Given the description of an element on the screen output the (x, y) to click on. 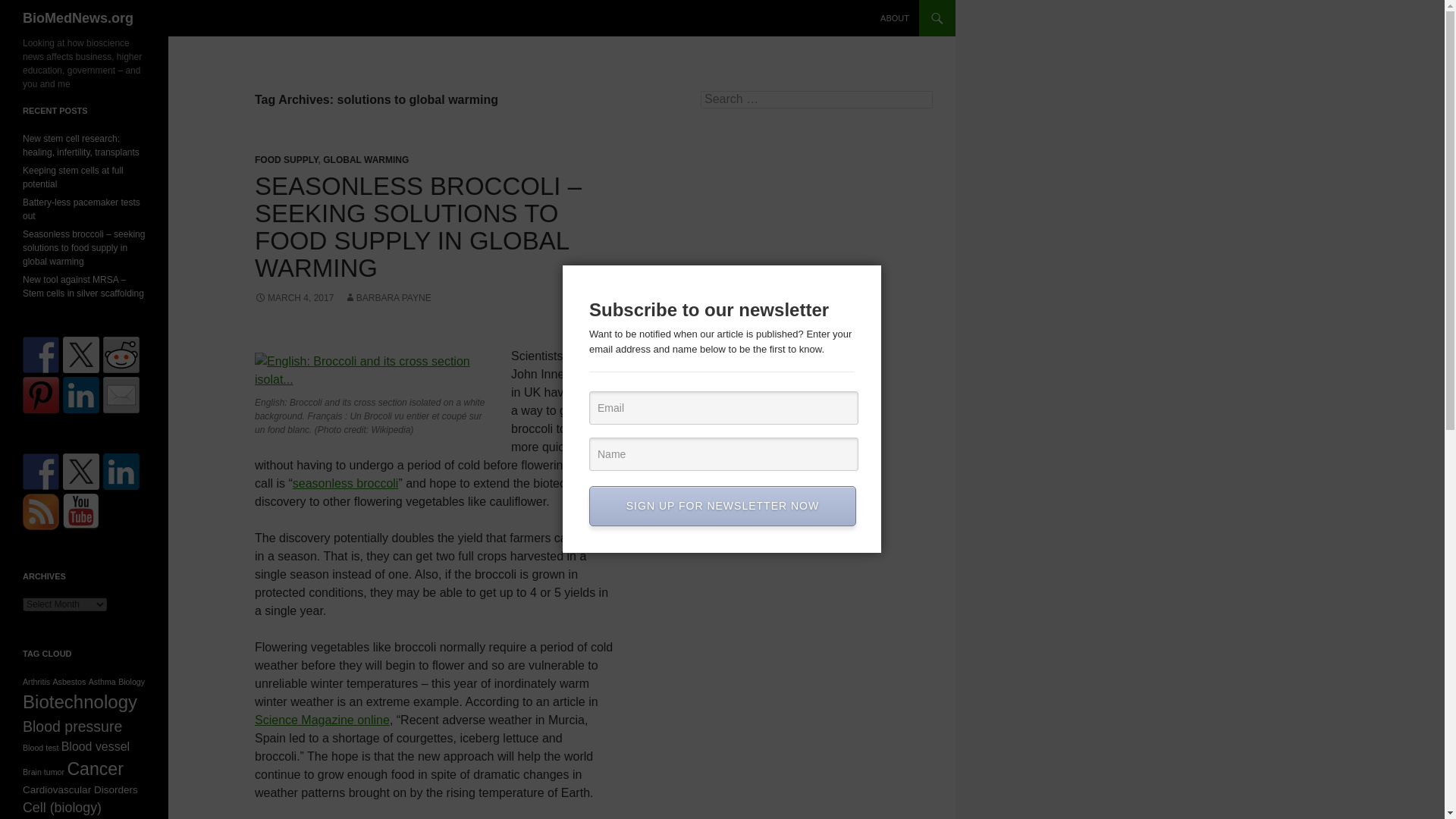
GLOBAL WARMING (366, 159)
Name (724, 453)
Share by email (121, 394)
seasonless broccoli (345, 482)
Asbestos (68, 681)
Biology (130, 681)
Share on Reddit (121, 354)
Asthma (102, 681)
Share on Twitter (80, 354)
Pin it with Pinterest (41, 394)
FOOD SUPPLY (286, 159)
New stem cell research: healing, infertility, transplants (81, 145)
Battery-less pacemaker tests out (81, 209)
BioMedNews.org (78, 18)
Search (30, 8)
